Given the description of an element on the screen output the (x, y) to click on. 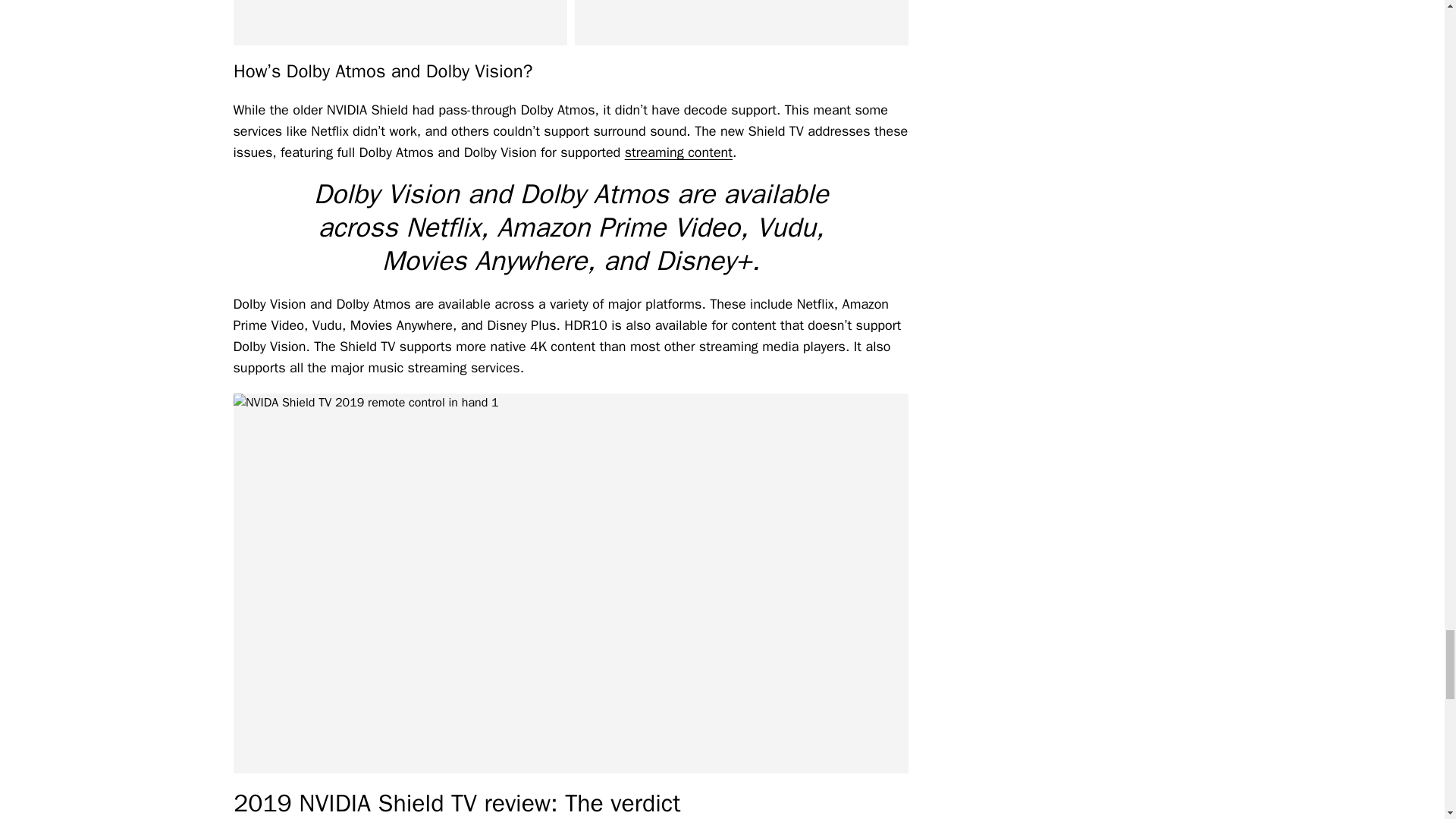
NVIDA Shield TV 2019 IO macro 2 (399, 22)
streaming content (678, 152)
NVIDA Shield TV 2019 IO macro 1 (741, 22)
